Given the description of an element on the screen output the (x, y) to click on. 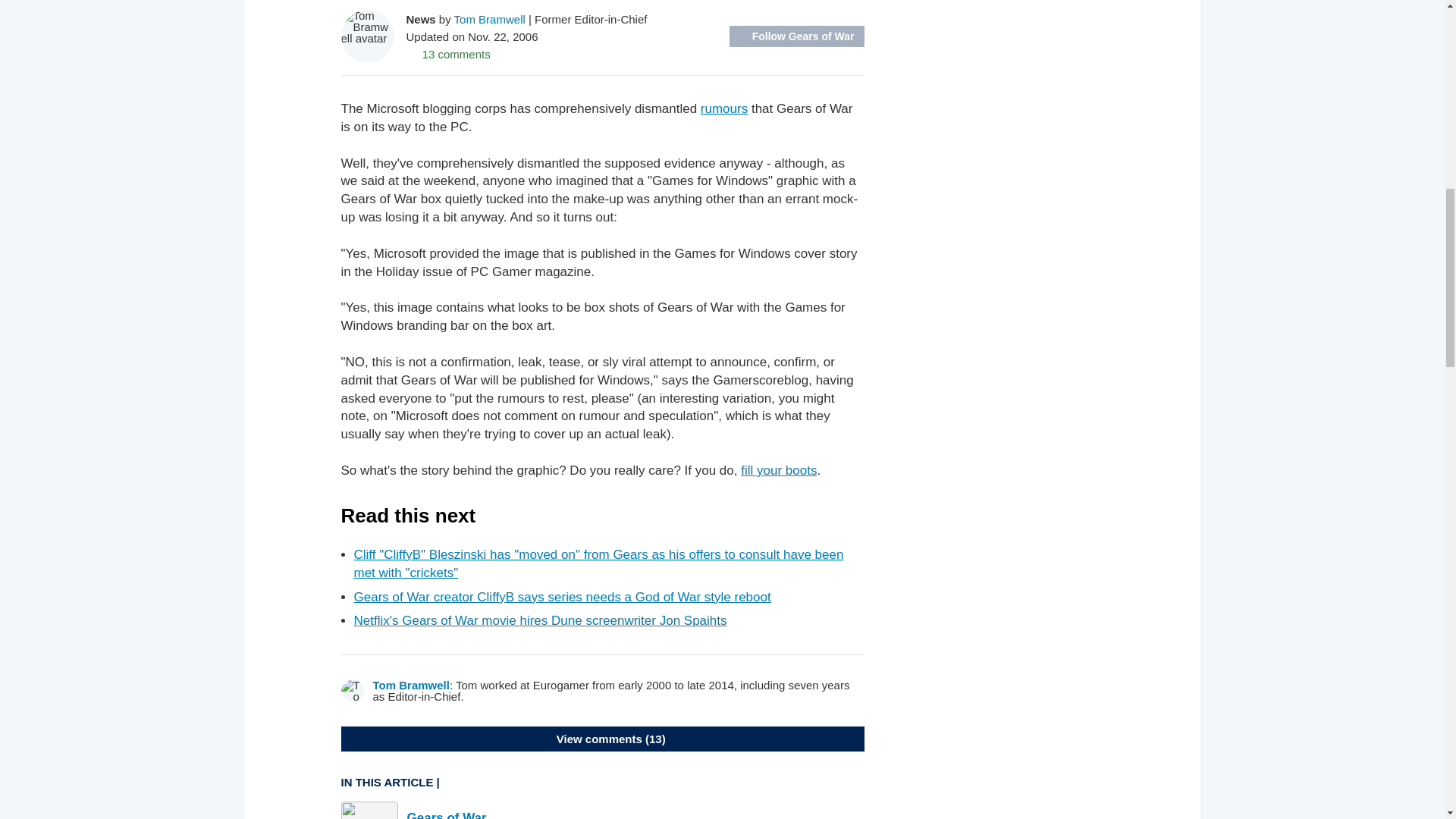
Tom Bramwell (410, 684)
Gears of War (446, 814)
fill your boots (778, 470)
Follow Gears of War (796, 35)
Tom Bramwell (489, 18)
rumours (724, 108)
13 comments (448, 52)
